Given the description of an element on the screen output the (x, y) to click on. 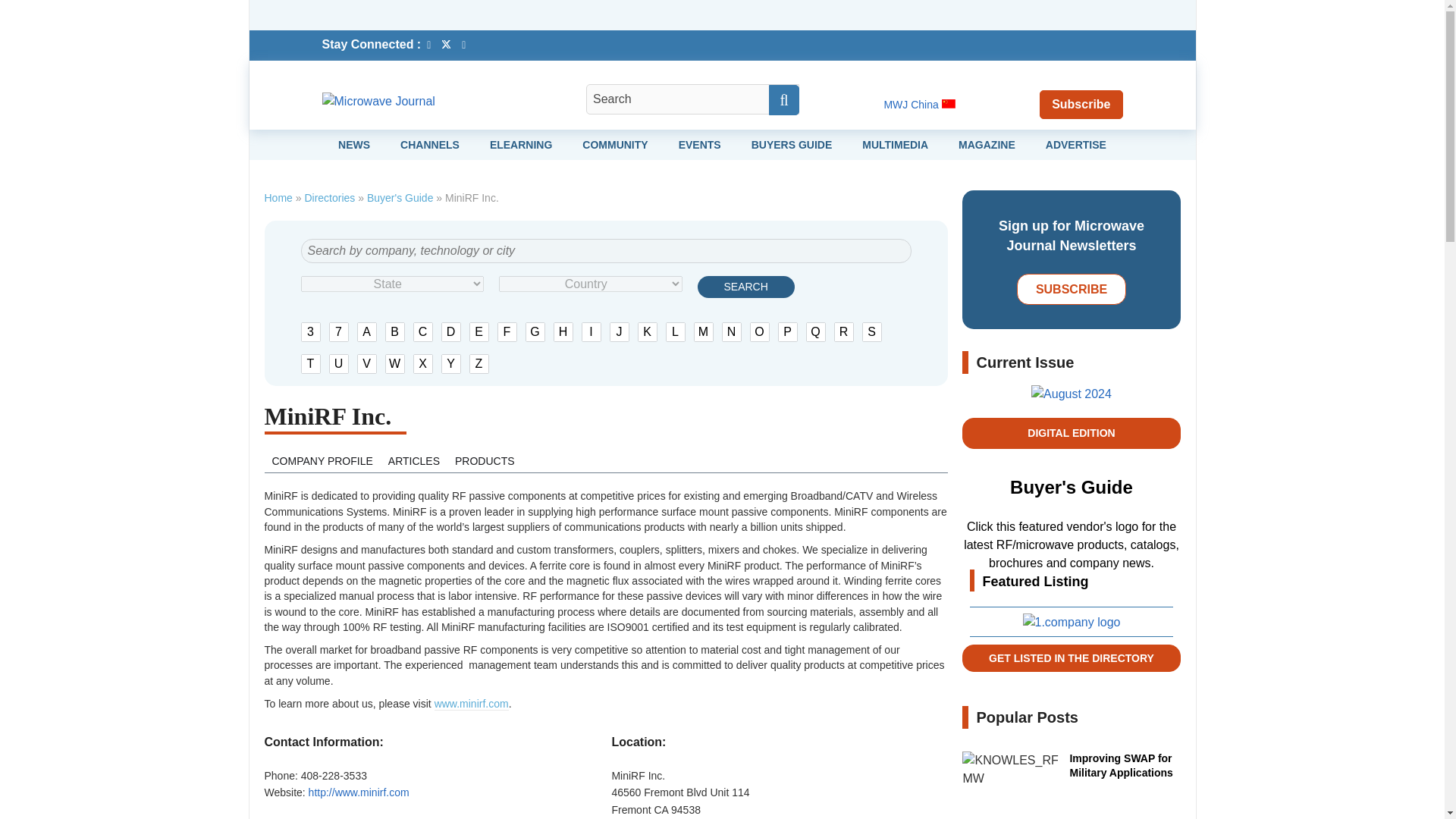
ELEARNING (520, 144)
NEWS (353, 144)
MWJ China (919, 104)
Subscribe (1080, 103)
COMMUNITY (615, 144)
CHANNELS (430, 144)
